Given the description of an element on the screen output the (x, y) to click on. 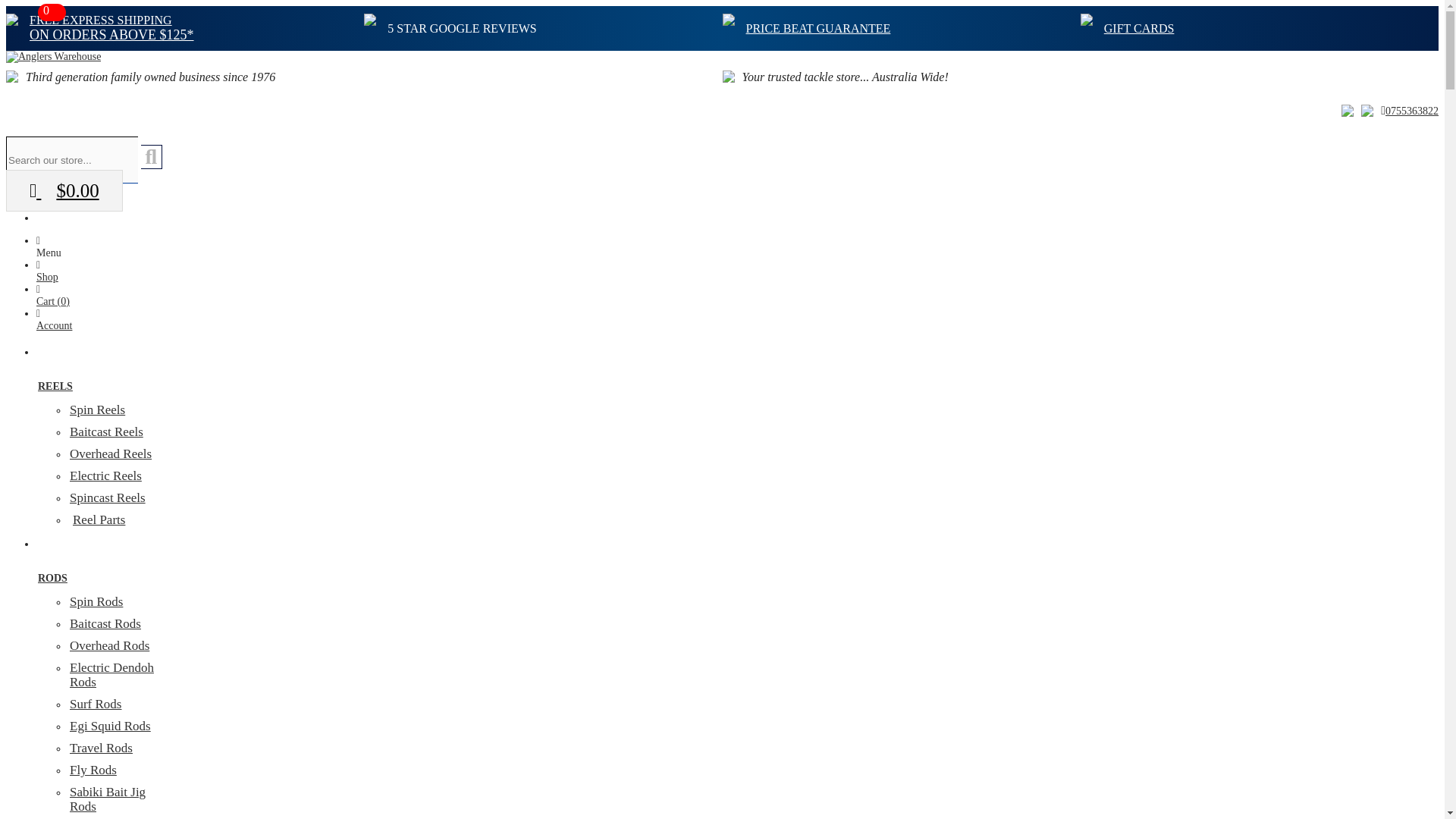
Electric Reels (105, 475)
Egi Squid Rods (110, 726)
Search... (152, 156)
Shop (47, 270)
Overhead Reels (110, 453)
Account (53, 319)
Electric Dendoh Rods (111, 674)
GIFT CARDS (1138, 27)
Fly Rods (92, 769)
Menu (48, 246)
Travel Rods (100, 748)
Surf Rods (94, 703)
Spincast Reels (107, 497)
Spin Reels (97, 409)
RODS (99, 584)
